Given the description of an element on the screen output the (x, y) to click on. 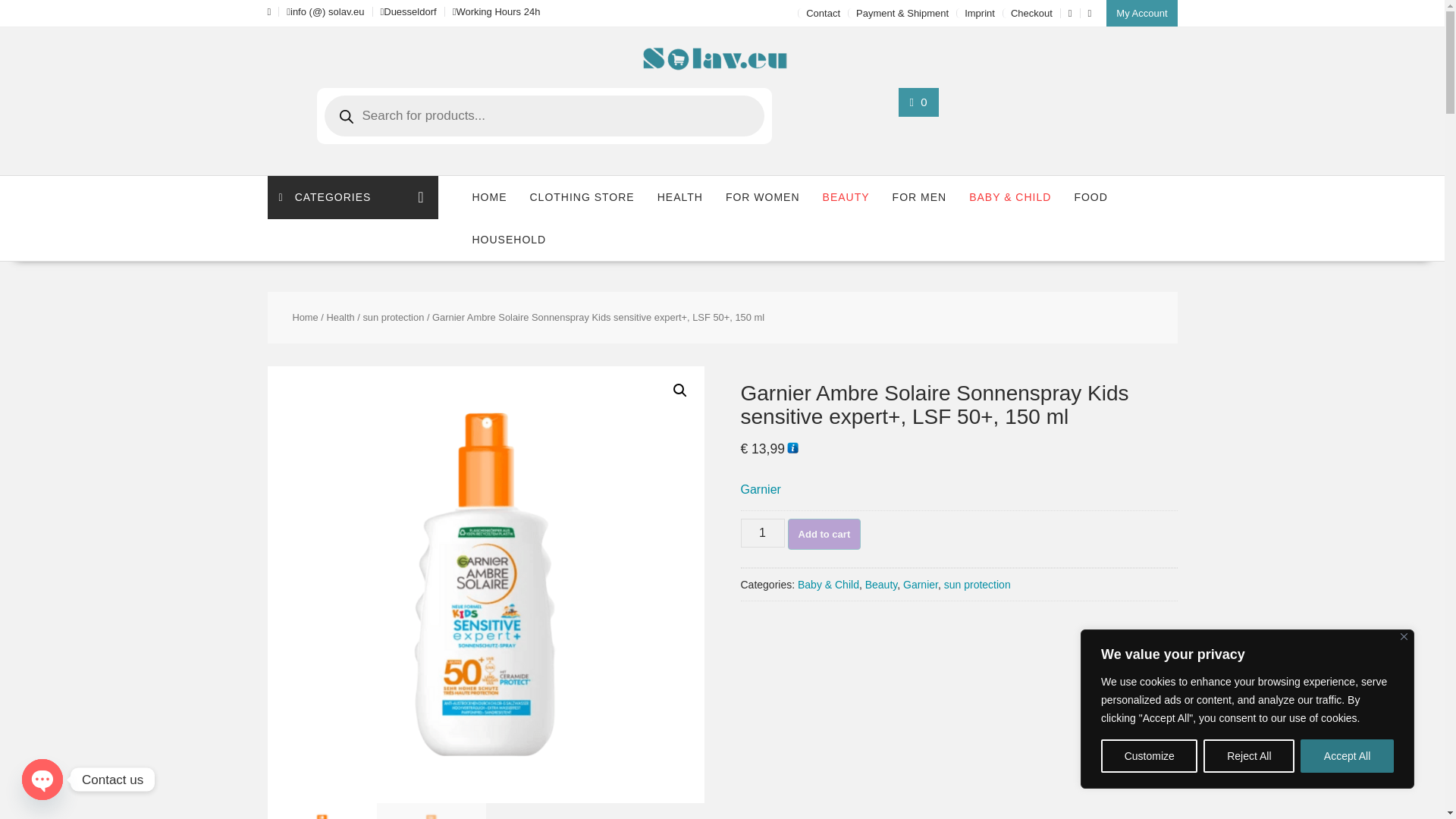
CATEGORIES (352, 197)
Customize (1148, 756)
1 (761, 532)
0 (918, 101)
Imprint (978, 12)
Checkout (1031, 12)
My Account (1141, 13)
Reject All (1249, 756)
Contact (823, 12)
Accept All (1346, 756)
